Given the description of an element on the screen output the (x, y) to click on. 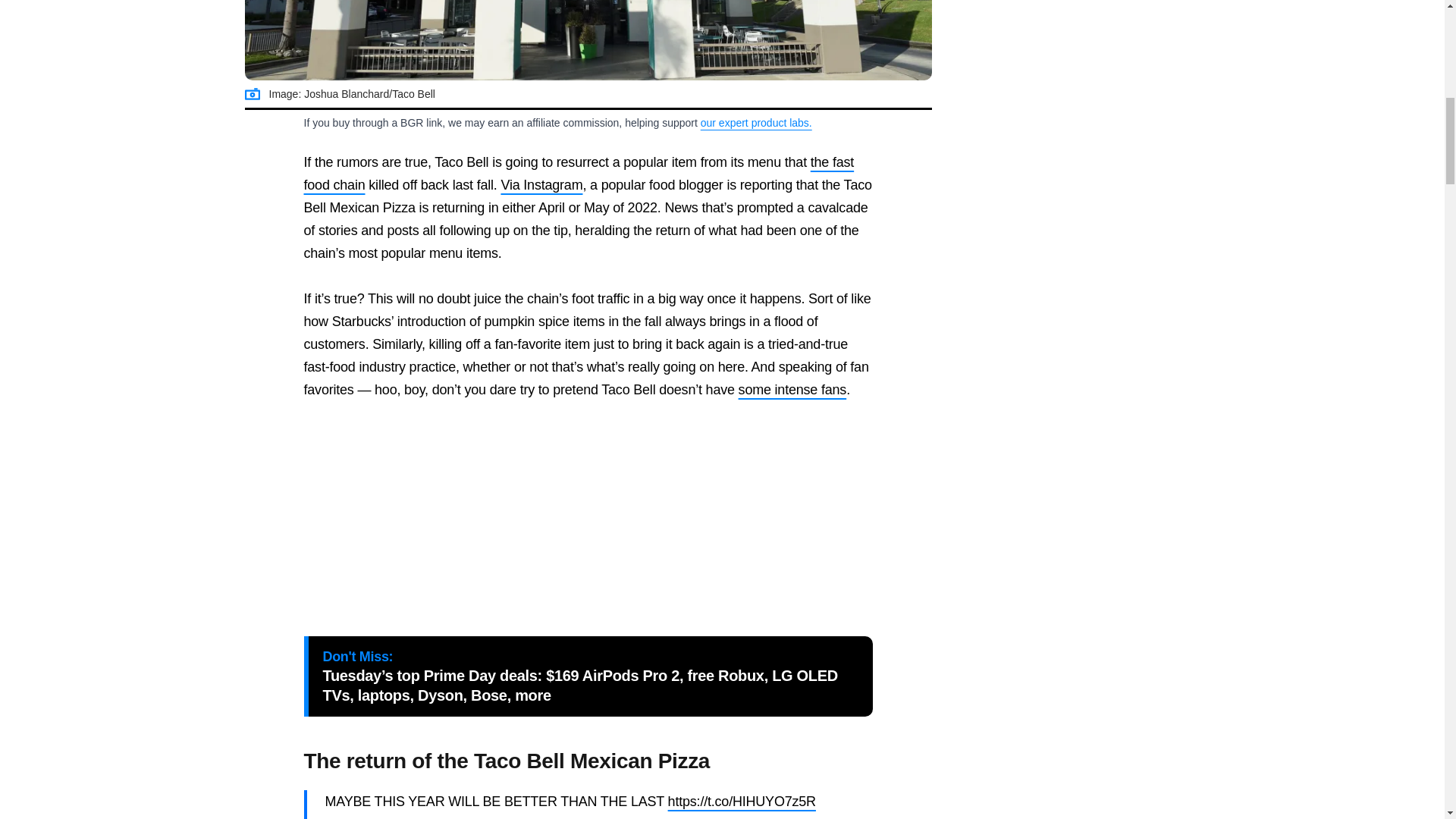
3rd party ad content (587, 518)
Taco Bell Mexican Pizza (587, 40)
